Given the description of an element on the screen output the (x, y) to click on. 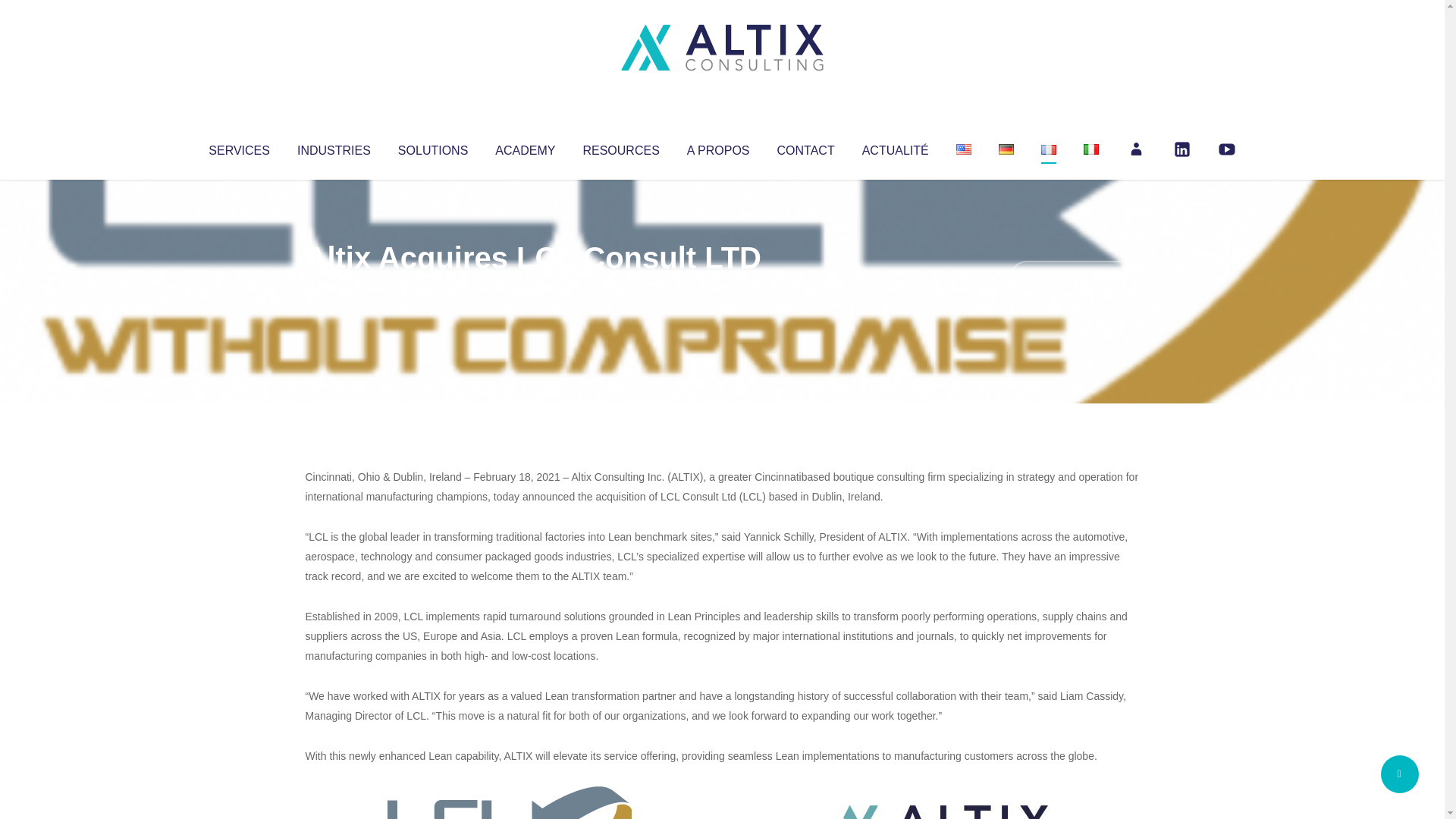
Articles par Altix (333, 287)
Uncategorized (530, 287)
RESOURCES (620, 146)
A PROPOS (718, 146)
SERVICES (238, 146)
No Comments (1073, 278)
Altix (333, 287)
SOLUTIONS (432, 146)
ACADEMY (524, 146)
INDUSTRIES (334, 146)
